Given the description of an element on the screen output the (x, y) to click on. 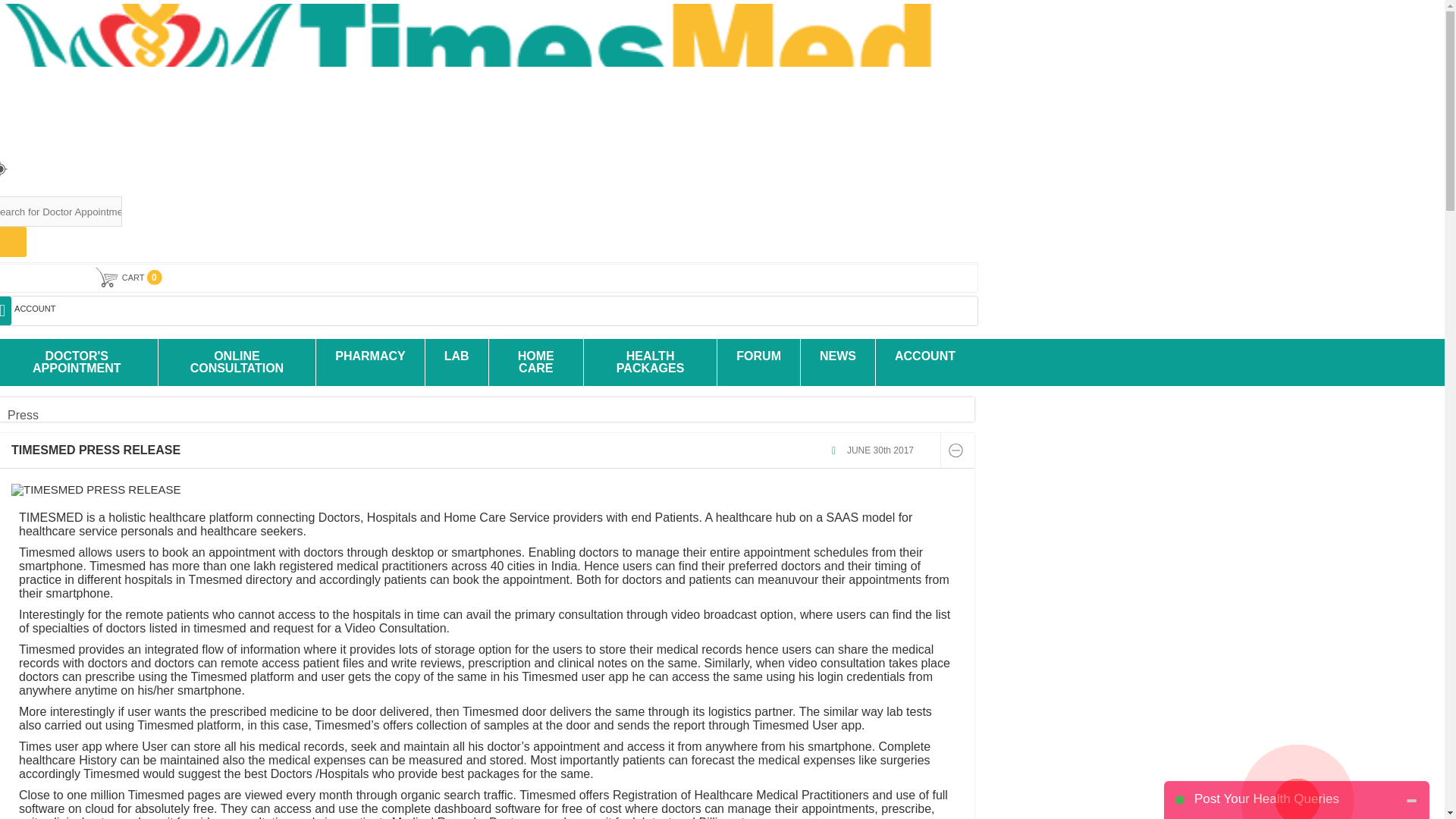
ACCOUNT (488, 310)
DOCTOR'S APPOINTMENT (78, 362)
CART 0 (485, 277)
Home (7, 403)
